Given the description of an element on the screen output the (x, y) to click on. 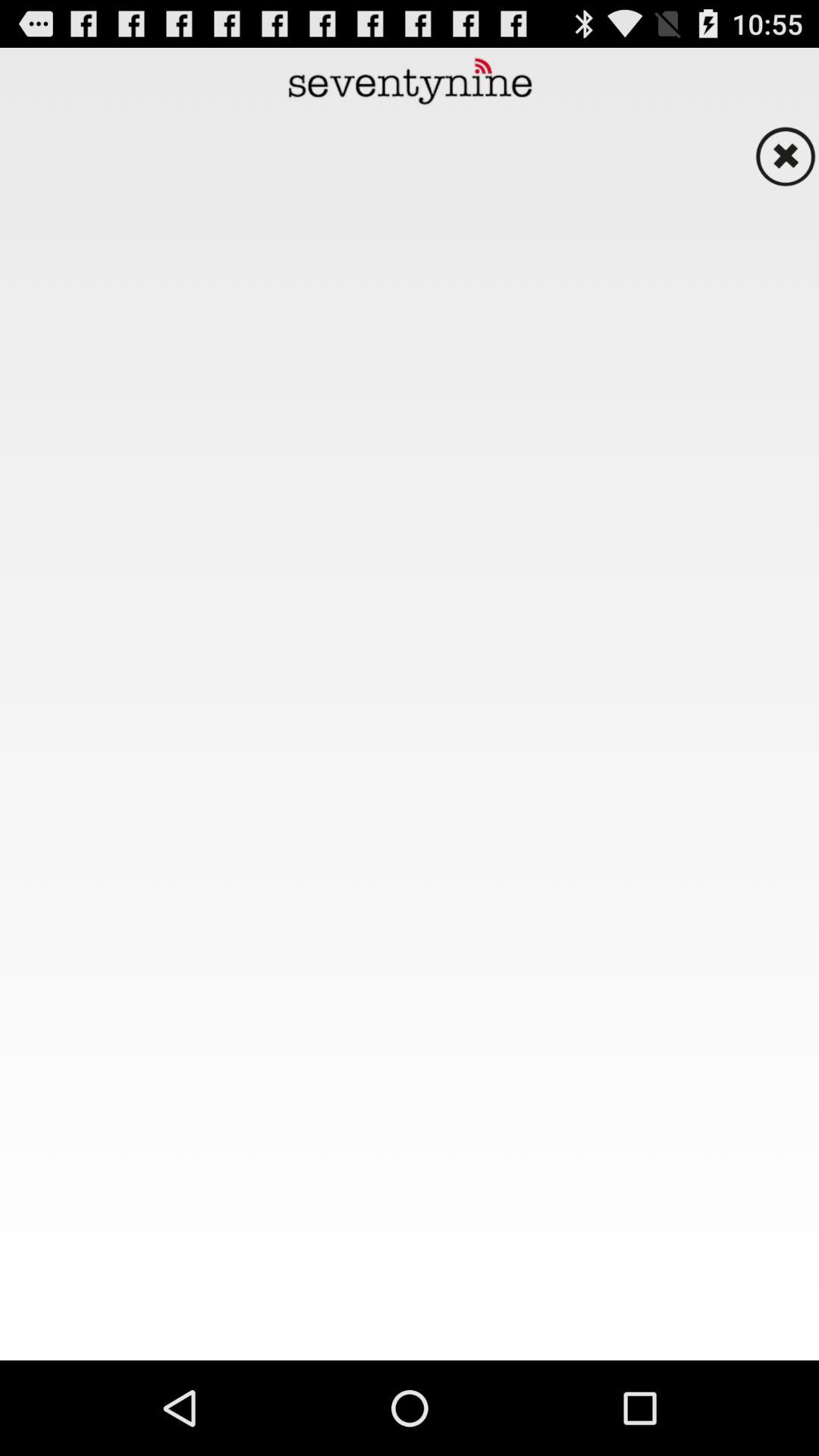
close button (785, 156)
